Given the description of an element on the screen output the (x, y) to click on. 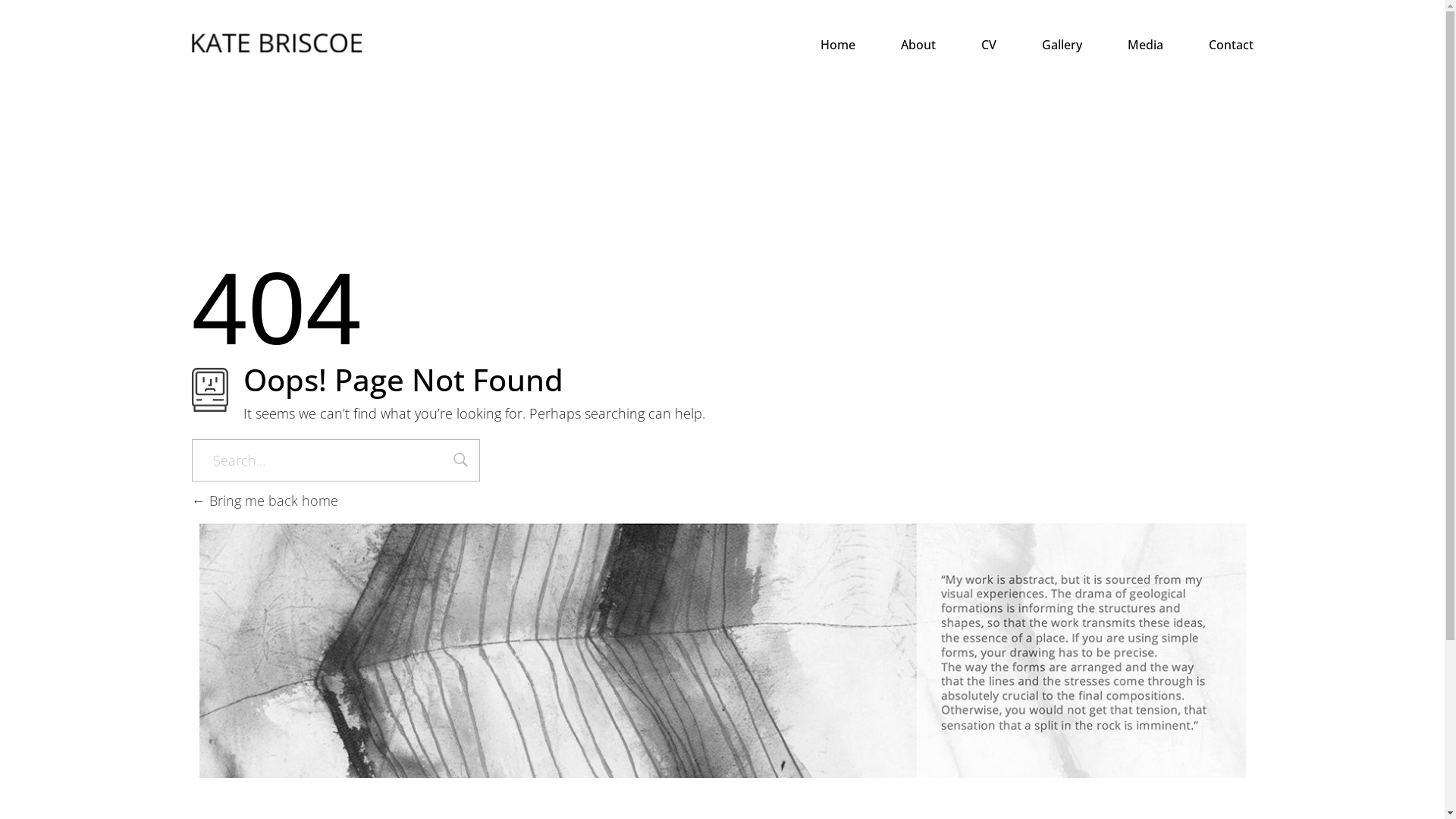
Search Element type: text (460, 461)
Kate-Briscoe-Artist-Black-and-White Element type: hover (721, 650)
Contact Element type: text (1208, 43)
About Element type: text (895, 43)
Bring me back home Element type: text (264, 500)
Home Element type: text (815, 43)
Kate Briscoe Element type: hover (276, 42)
Media Element type: text (1121, 43)
Kate Briscoe Element type: text (249, 61)
Gallery Element type: text (1039, 43)
CV Element type: text (965, 43)
